Given the description of an element on the screen output the (x, y) to click on. 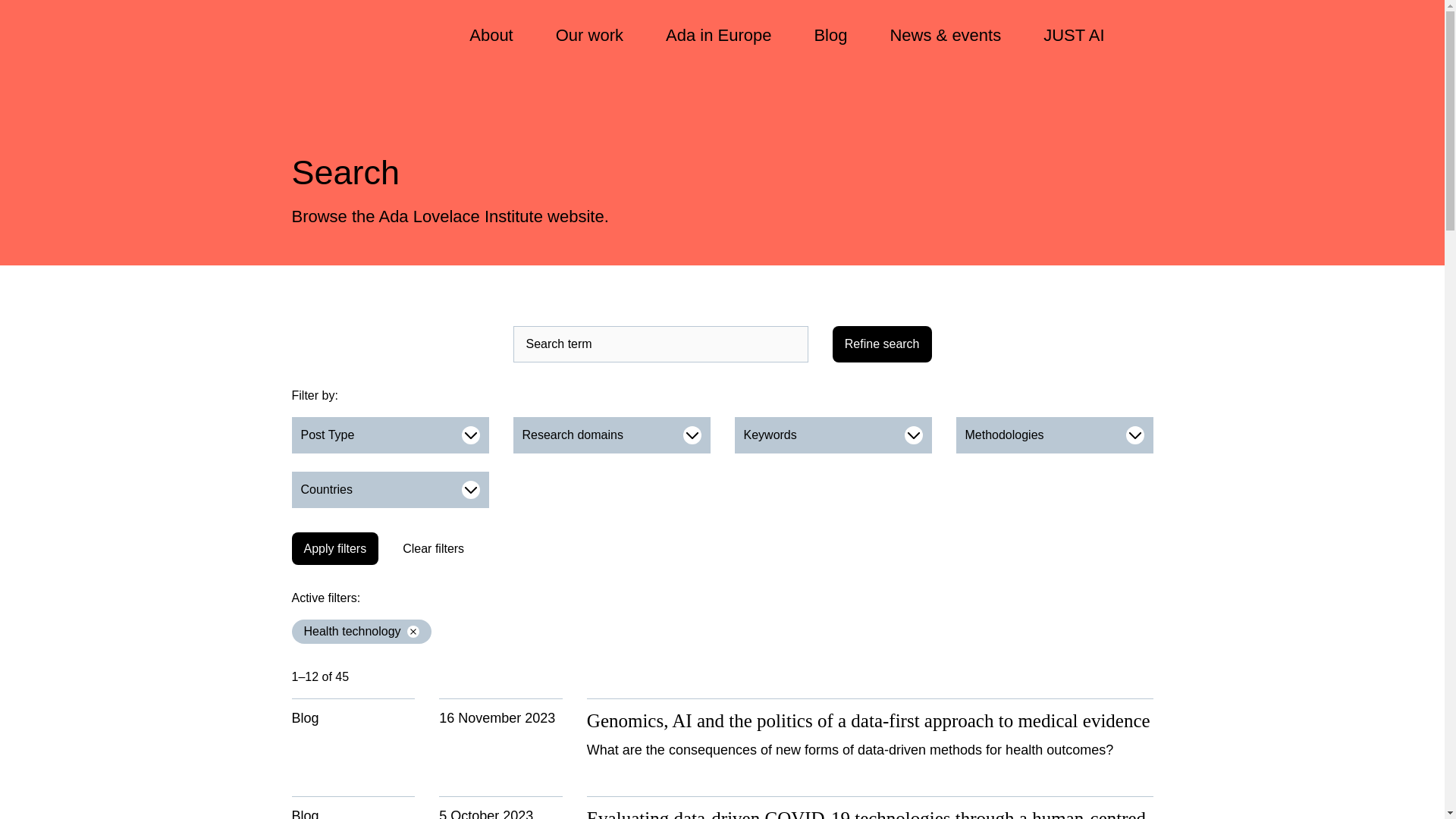
Our work (588, 36)
Keywords (832, 434)
Refine search (881, 343)
Health technology (360, 631)
Methodologies (1054, 434)
Clear filters (433, 548)
Post Type (389, 434)
Refine search (881, 343)
Ada in Europe (718, 36)
Blog (830, 36)
Research domains (611, 434)
Apply filters (334, 548)
JUST AI (1073, 36)
